Given the description of an element on the screen output the (x, y) to click on. 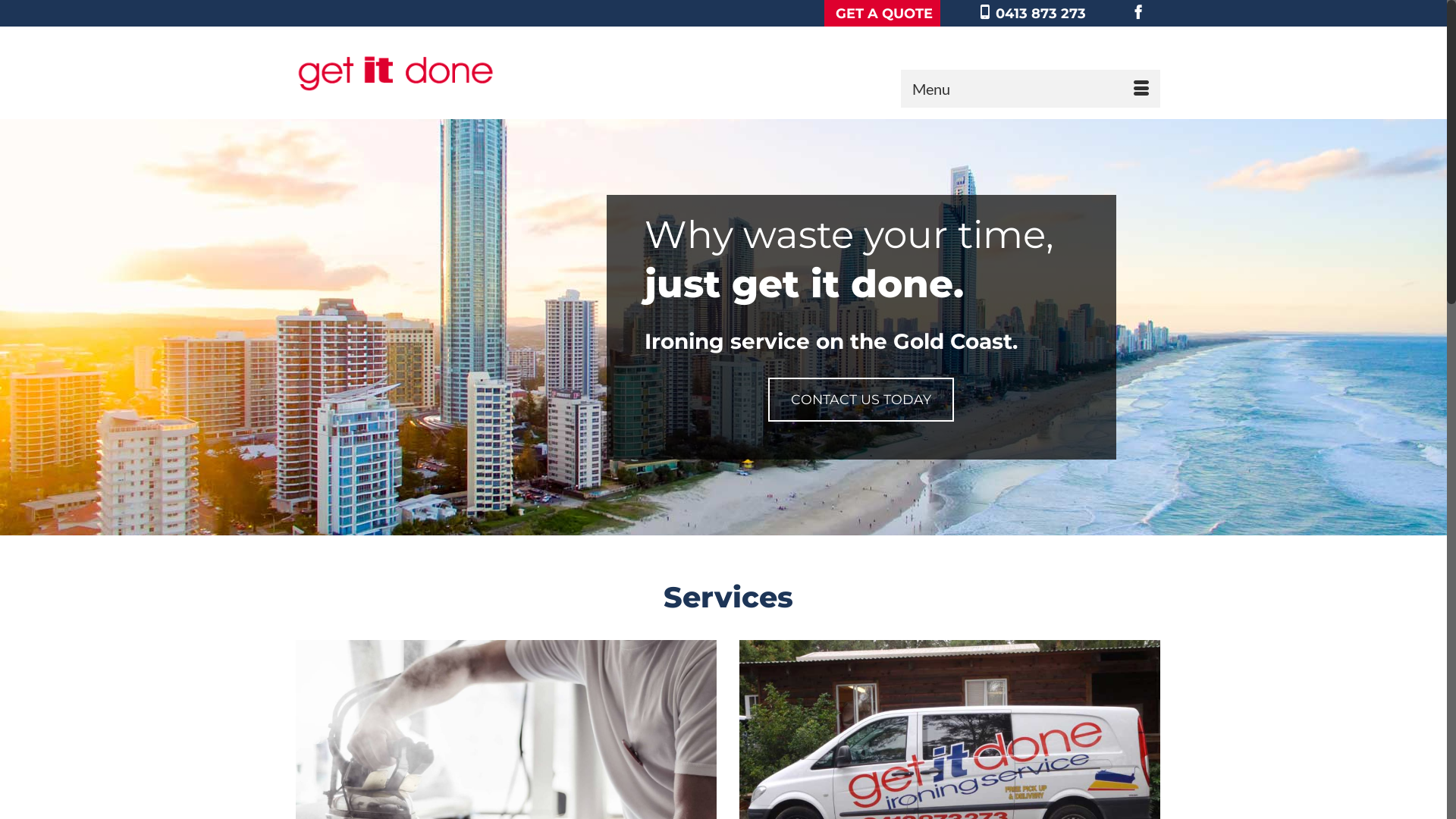
  Element type: text (1141, 13)
Menu Element type: text (1030, 88)
Get It Done Ironing Element type: hover (395, 66)
GET A QUOTE Element type: text (882, 13)
0413 873 273 Element type: text (1031, 13)
CONTACT US TODAY Element type: text (860, 399)
